Given the description of an element on the screen output the (x, y) to click on. 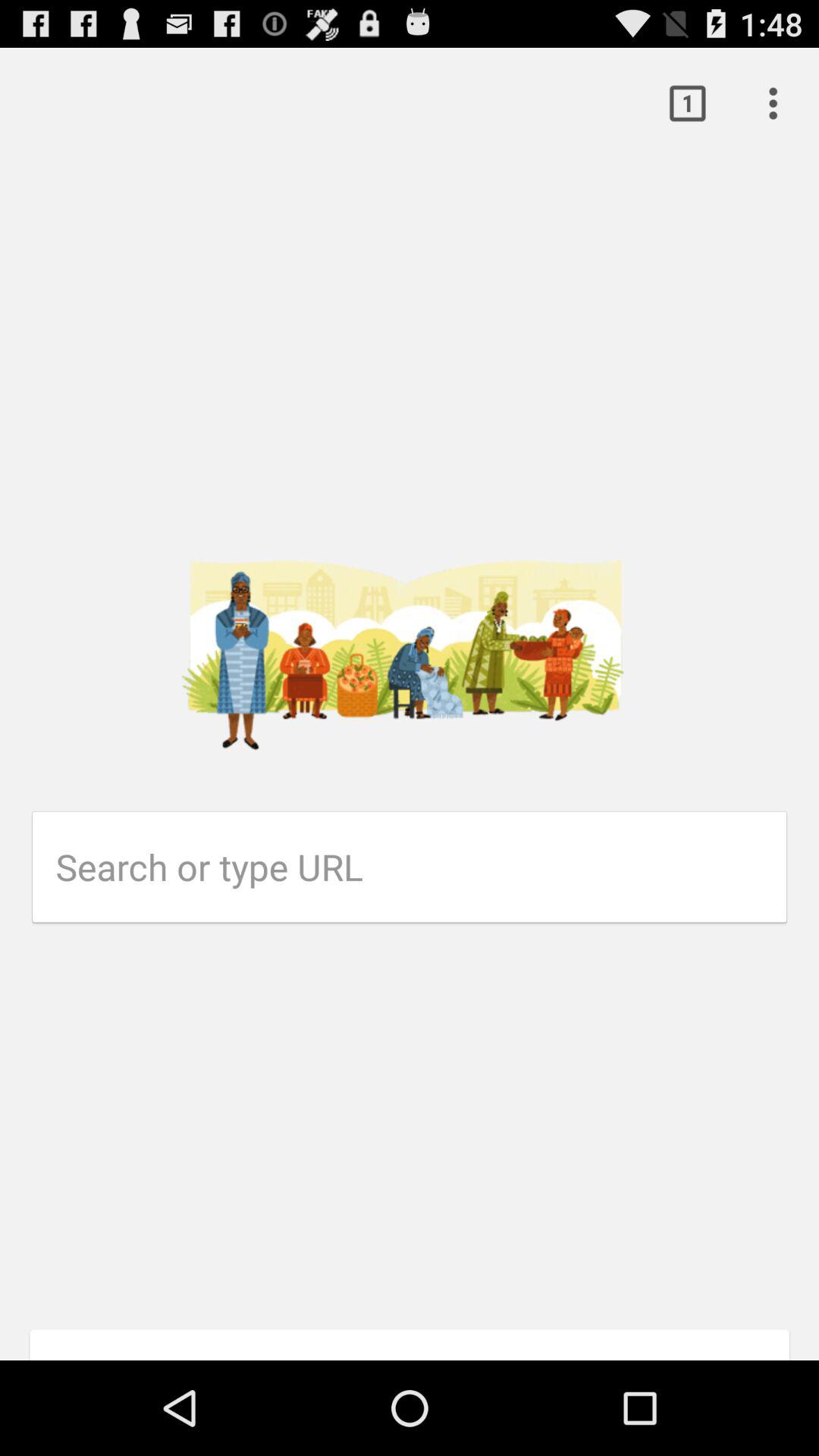
url (421, 866)
